Given the description of an element on the screen output the (x, y) to click on. 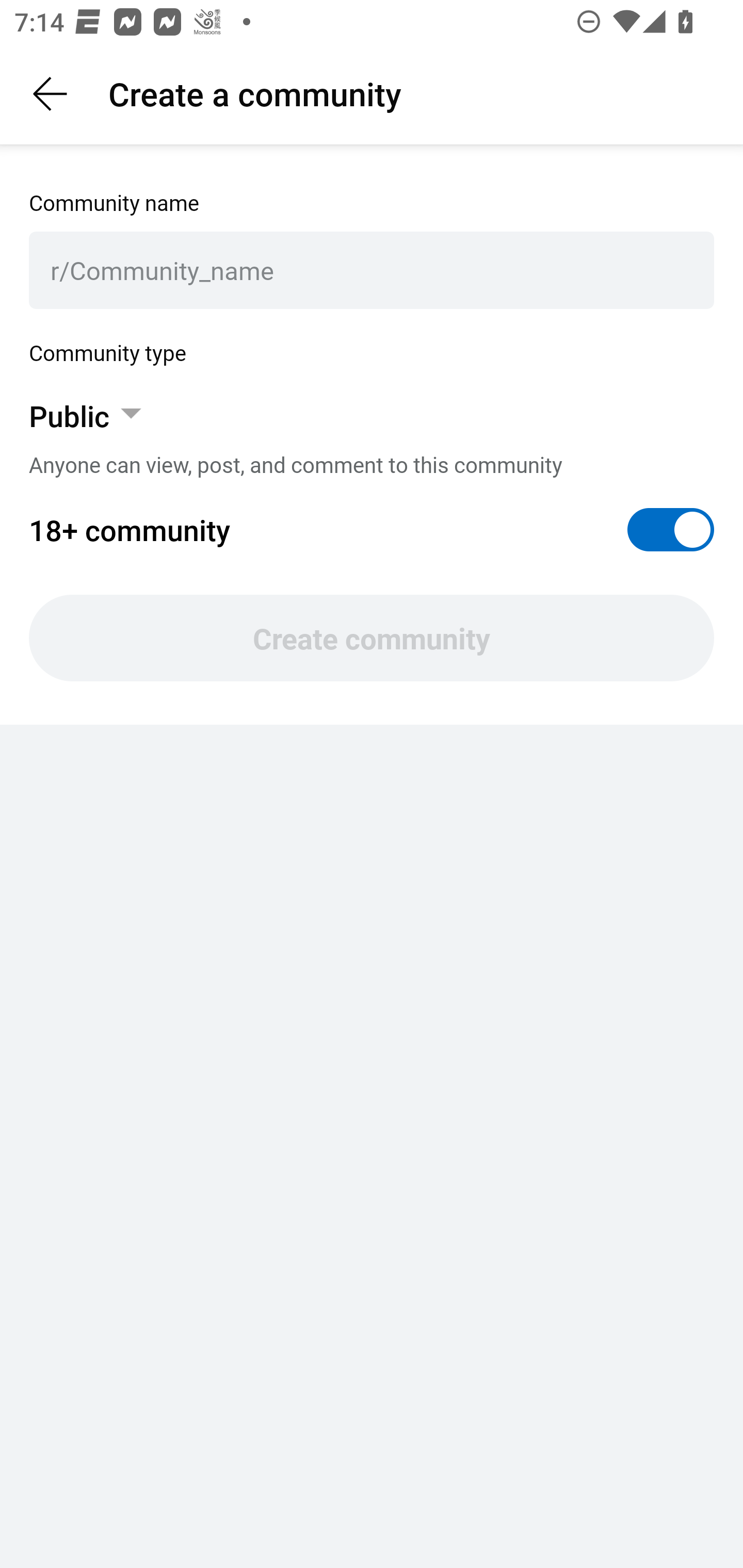
Community_name (380, 270)
18+ community (371, 529)
Create community (371, 638)
